Given the description of an element on the screen output the (x, y) to click on. 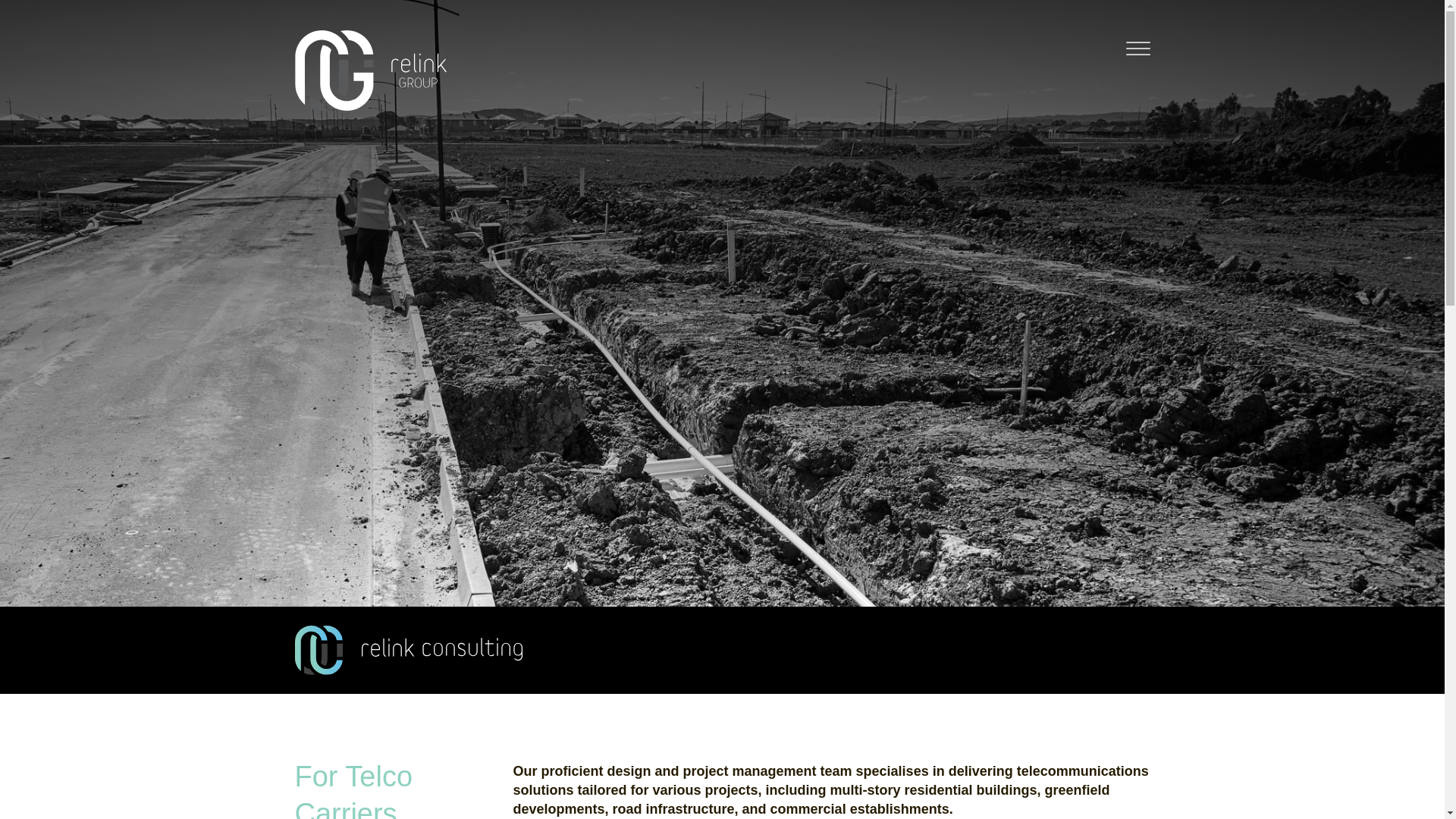
Relink Consulting (369, 70)
